Given the description of an element on the screen output the (x, y) to click on. 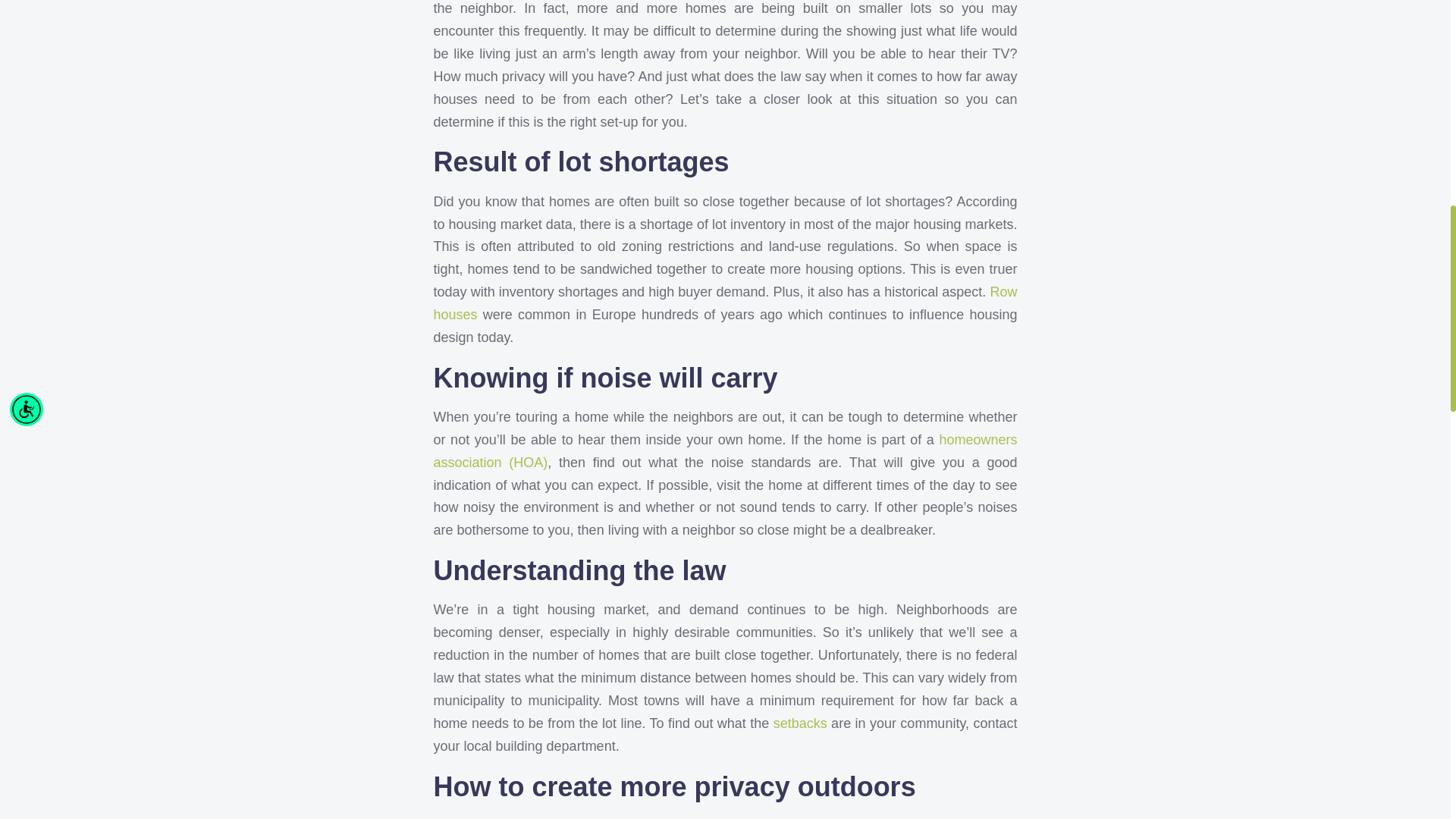
Row houses (725, 303)
setbacks (800, 723)
